Given the description of an element on the screen output the (x, y) to click on. 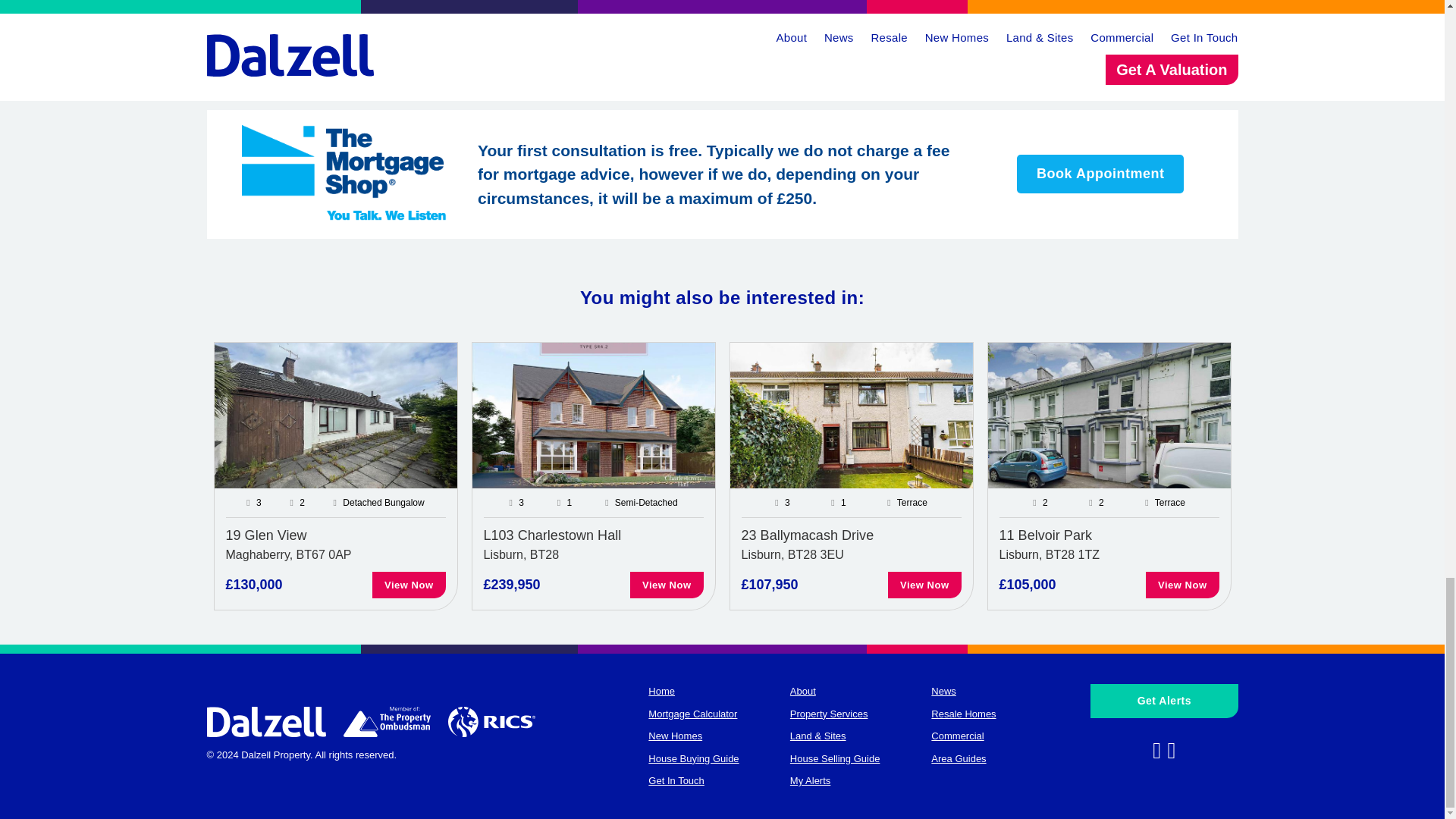
Calculate (1180, 54)
3 (805, 12)
198000 (305, 12)
25 (972, 12)
